Given the description of an element on the screen output the (x, y) to click on. 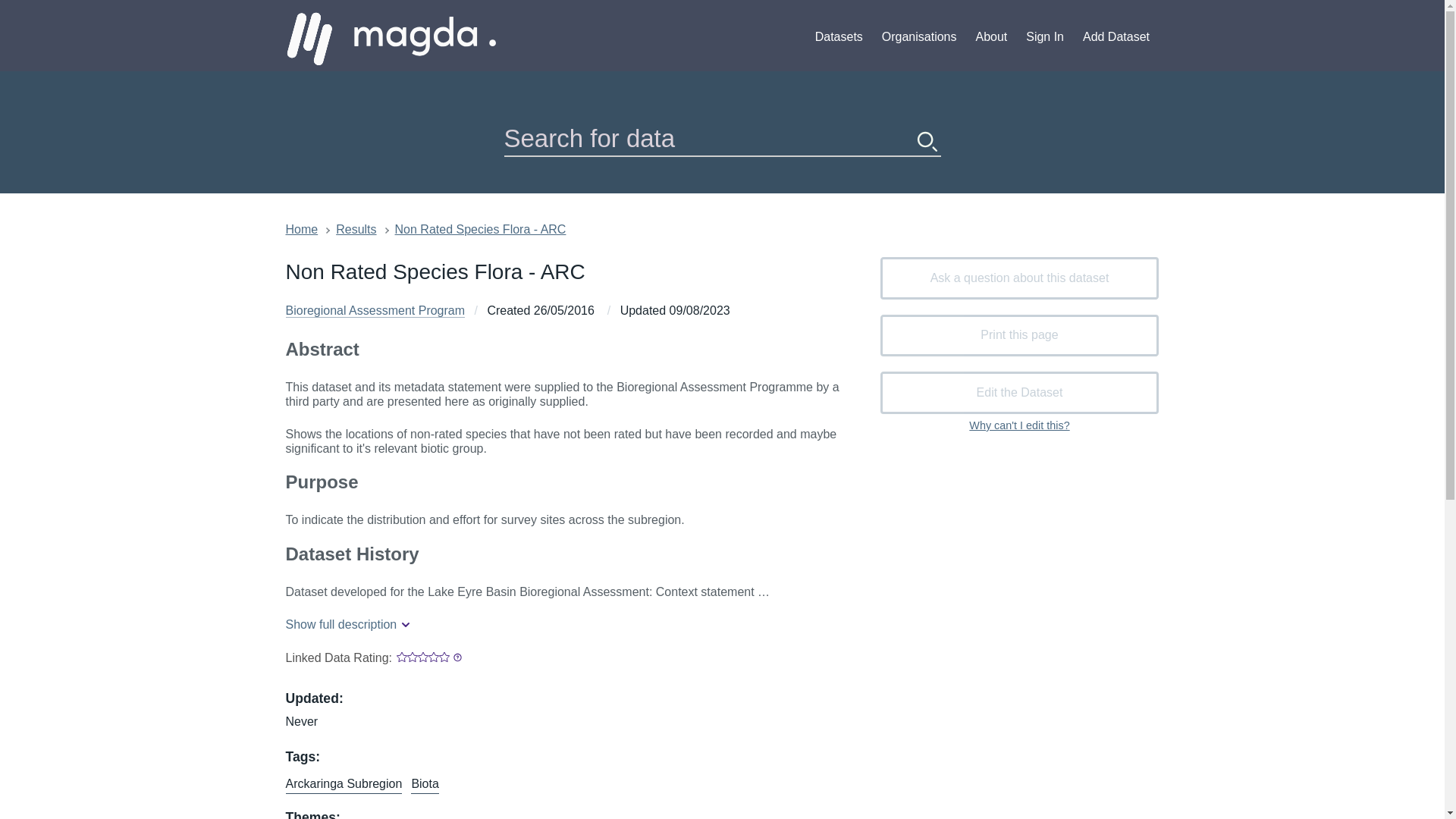
Ask a question about this dataset (1018, 278)
Empty StarEmpty Star Icon (401, 656)
Arckaringa Subregion (343, 783)
About (991, 36)
Datasets (838, 36)
Bioregional Assessment Program (374, 310)
Add Dataset (1115, 36)
Biota (424, 783)
Empty StarEmpty Star Icon (444, 656)
Results (355, 228)
Show full description (343, 624)
Go to About (991, 36)
Sign In (1045, 36)
Search iconSearch icon (926, 141)
Help IconHelp Icon (455, 658)
